Given the description of an element on the screen output the (x, y) to click on. 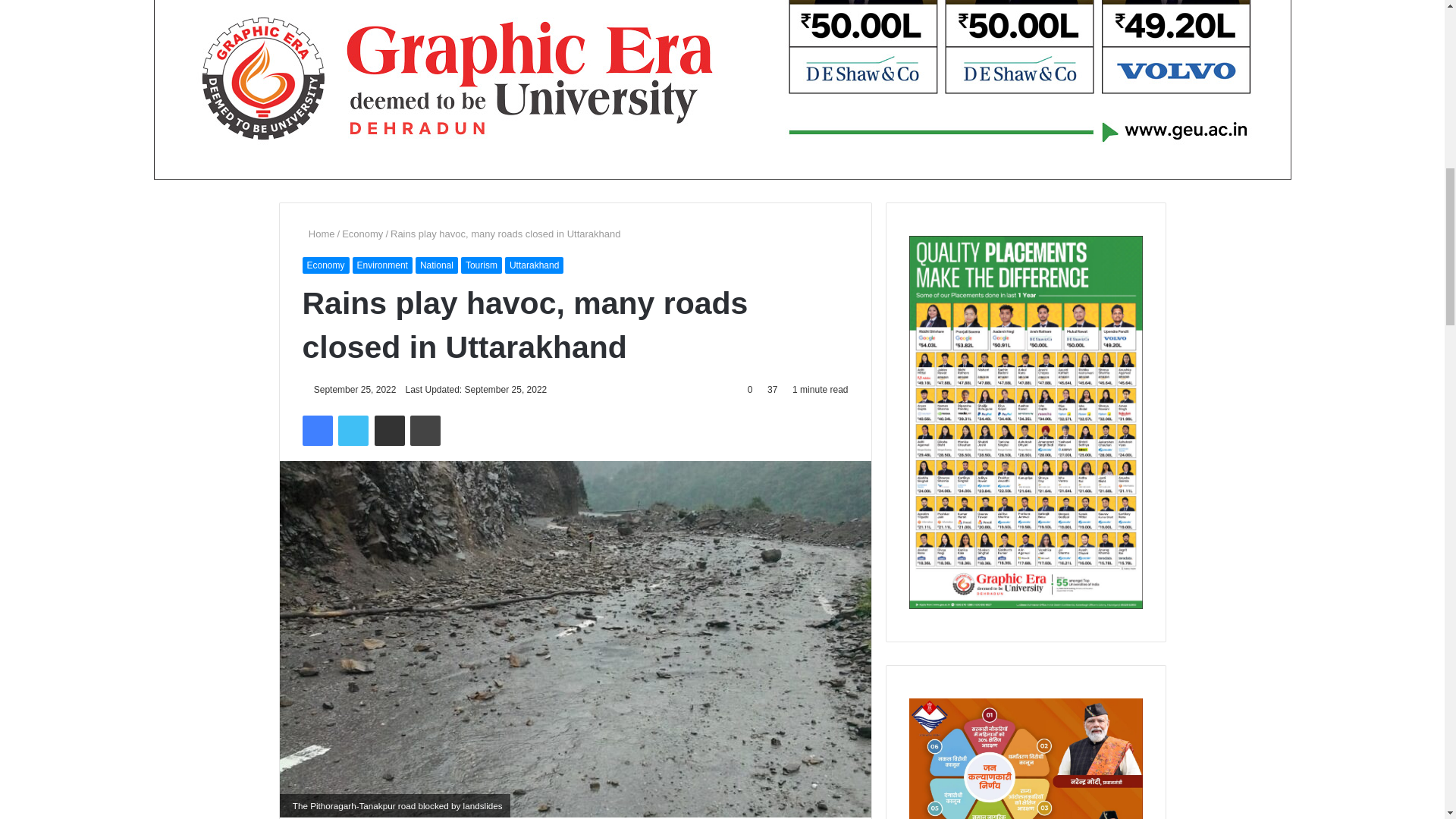
Economy (325, 265)
National (436, 265)
Share via Email (389, 430)
Facebook (316, 430)
Twitter (352, 430)
Environment (382, 265)
Economy (362, 233)
Home (317, 233)
Print (425, 430)
